Given the description of an element on the screen output the (x, y) to click on. 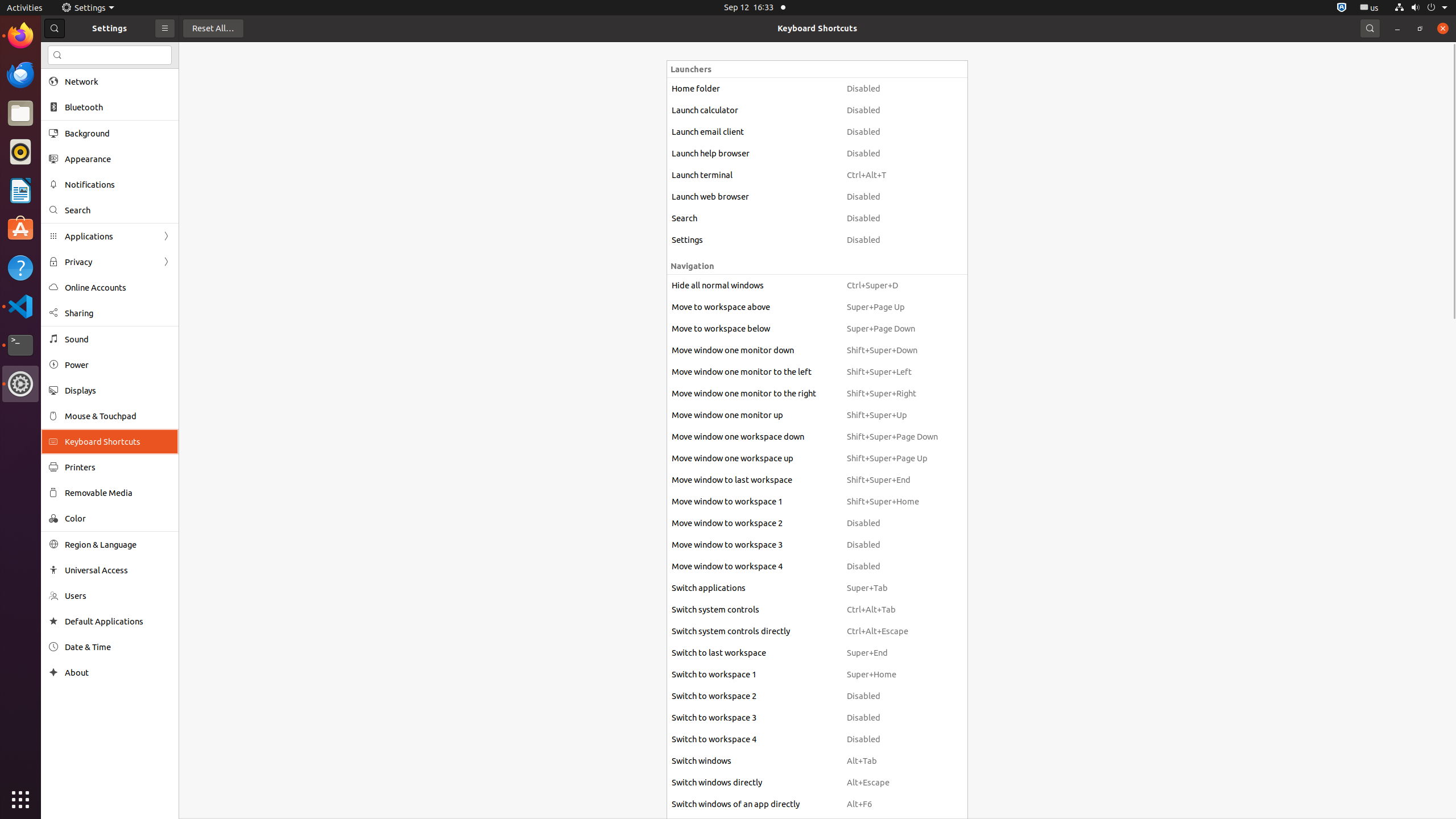
Alt+Escape Element type: label (891, 782)
Launch help browser Element type: label (753, 153)
Switch windows Element type: label (753, 760)
Shift+Super+Page Up Element type: label (891, 458)
